Given the description of an element on the screen output the (x, y) to click on. 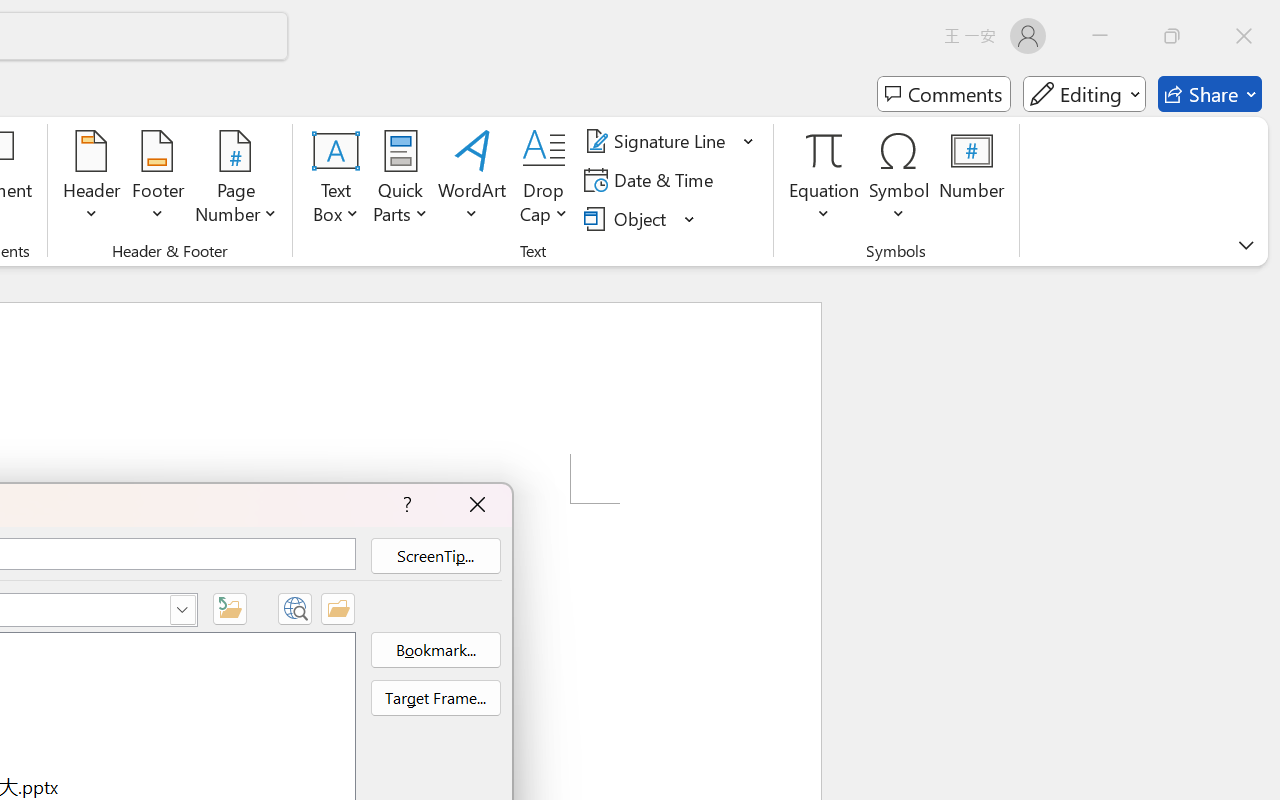
Share (1210, 94)
Equation (823, 150)
Browse the Web (294, 608)
Object... (640, 218)
Minimize (1099, 36)
WordArt (472, 179)
Signature Line (669, 141)
Ribbon Display Options (1246, 245)
Footer (157, 179)
Number... (971, 179)
Comments (943, 94)
Page Number (236, 179)
ScreenTip... (435, 555)
